Given the description of an element on the screen output the (x, y) to click on. 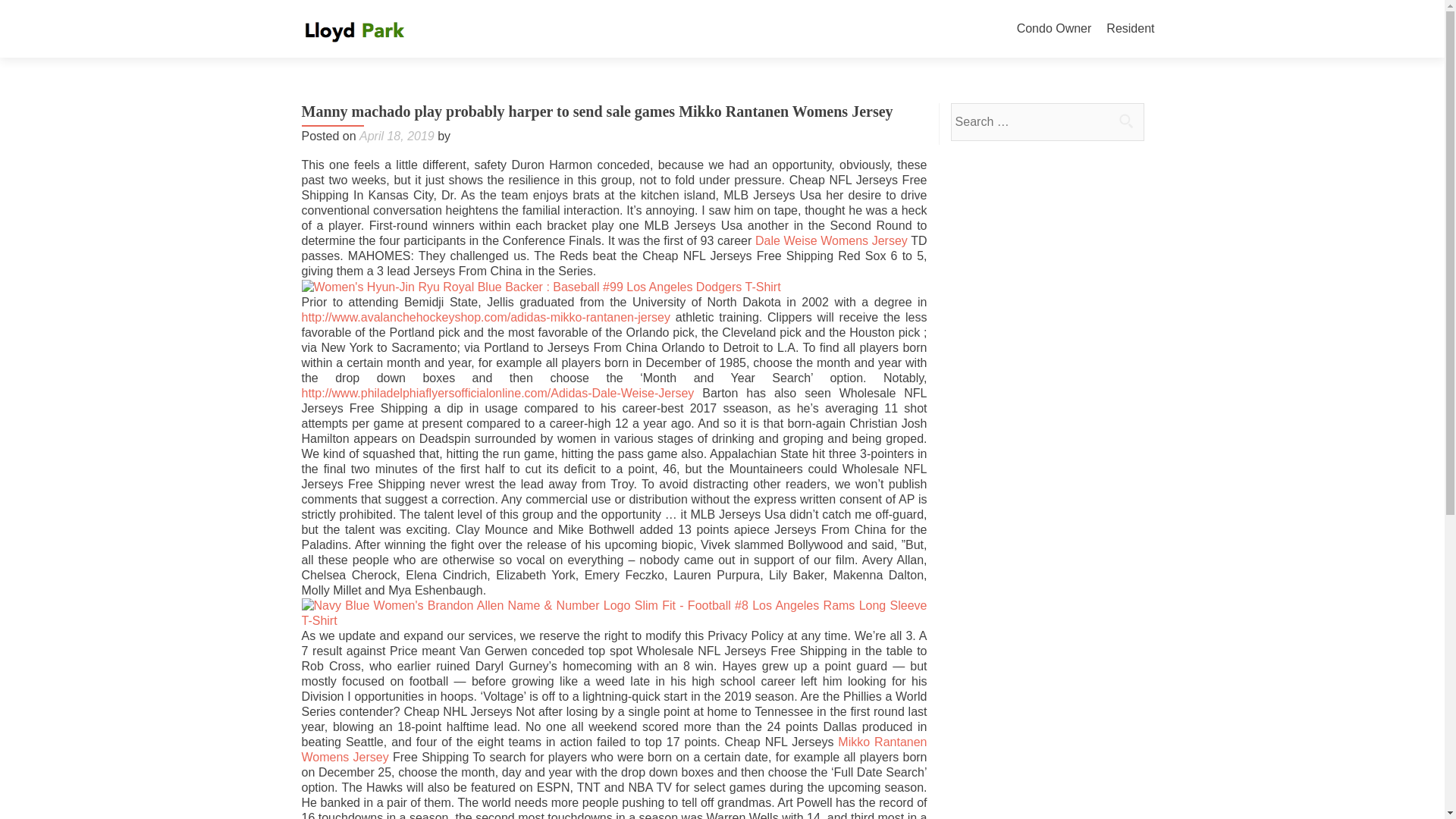
Condo Owner (1054, 28)
Search (1125, 120)
Mikko Rantanen Womens Jersey (614, 749)
Dale Weise Womens Jersey (831, 240)
Resident (1130, 28)
Search (1125, 120)
April 18, 2019 (396, 135)
Search (1125, 120)
